Given the description of an element on the screen output the (x, y) to click on. 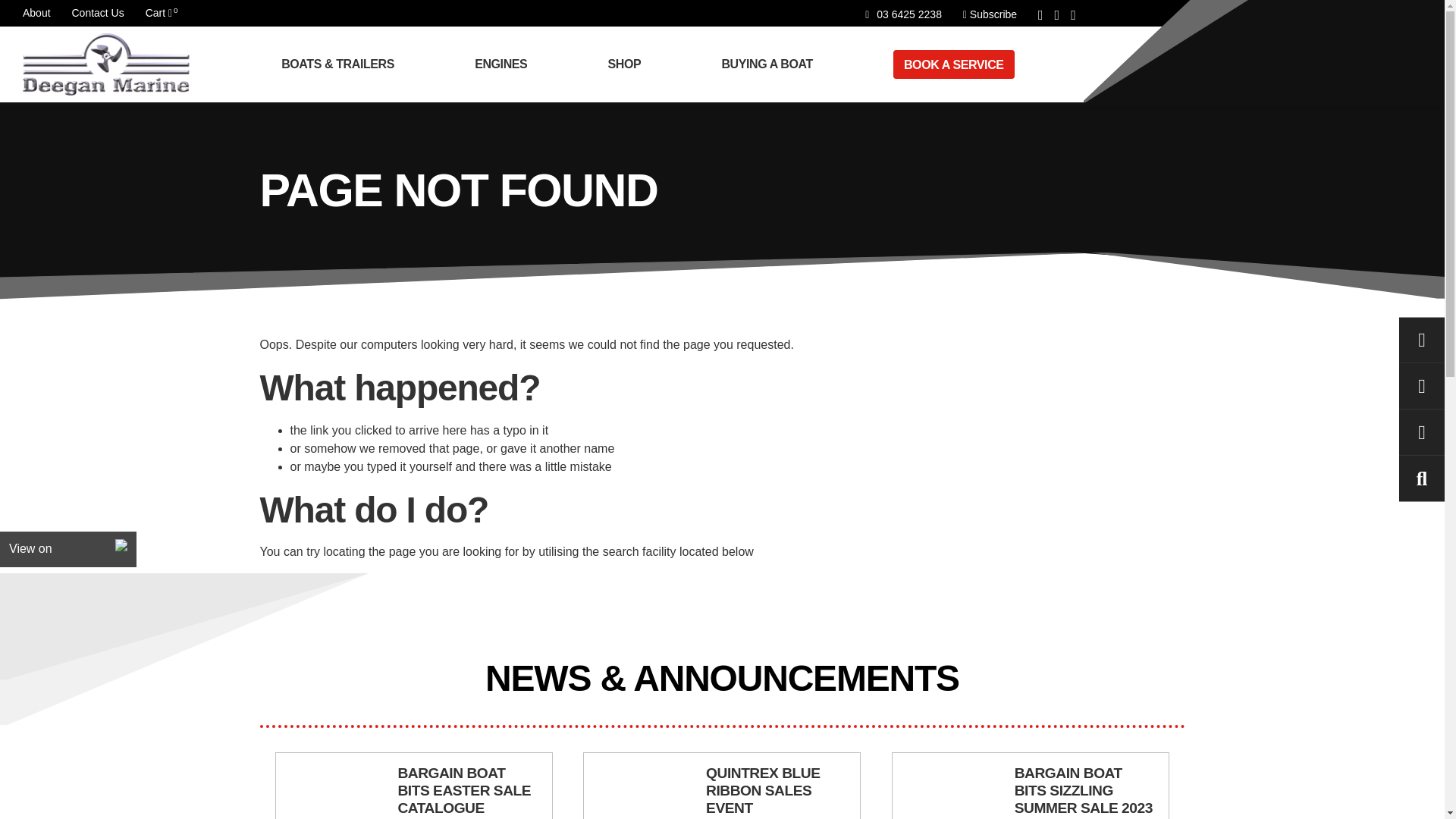
ENGINES (506, 64)
BUYING A BOAT (772, 64)
Contact Us (97, 12)
03 6425 2238 (903, 14)
SHOP (630, 64)
About (158, 12)
Subscribe (36, 12)
